Given the description of an element on the screen output the (x, y) to click on. 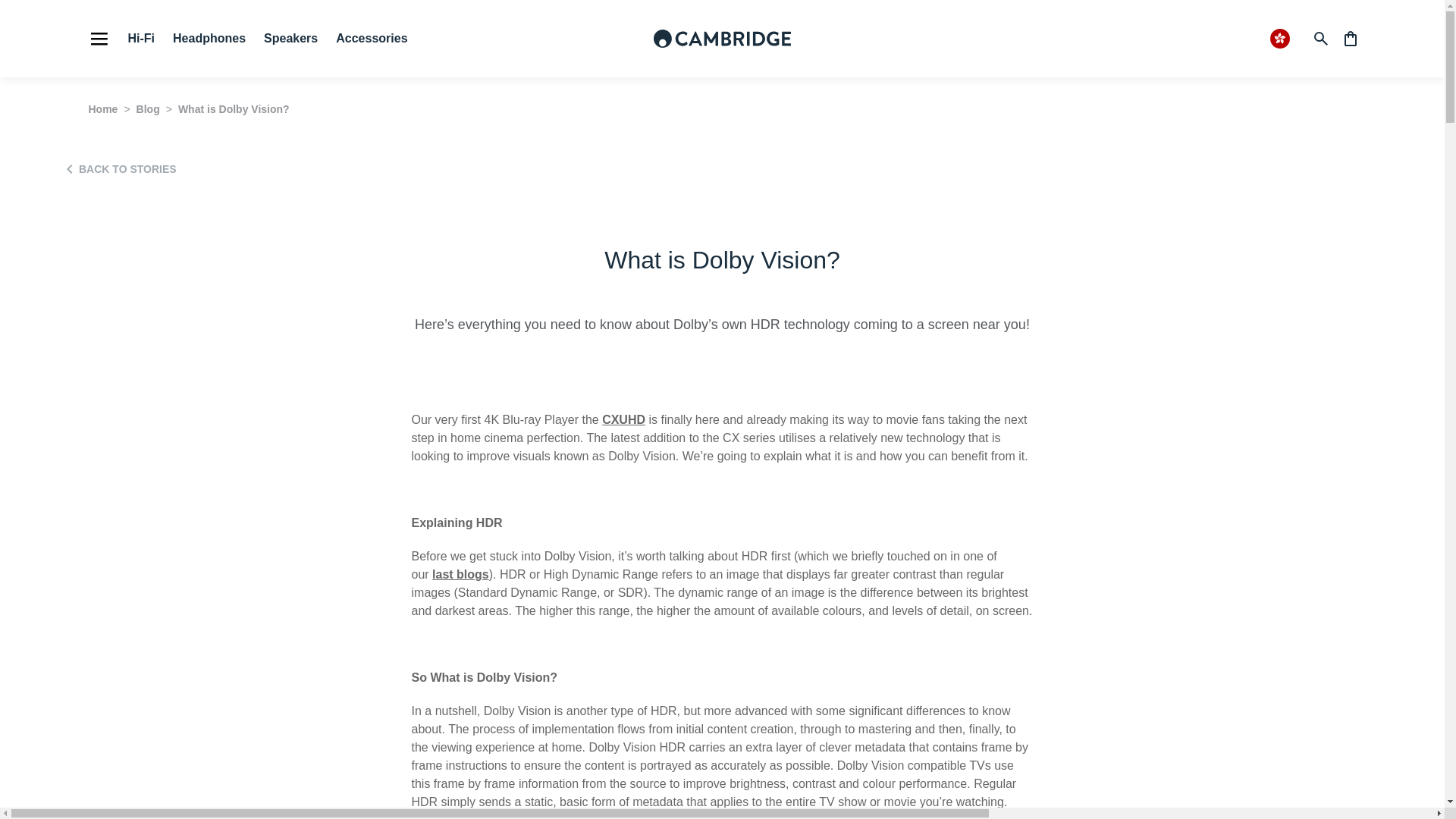
Speakers (290, 38)
Hi-Fi (141, 38)
Headphones (209, 38)
